Given the description of an element on the screen output the (x, y) to click on. 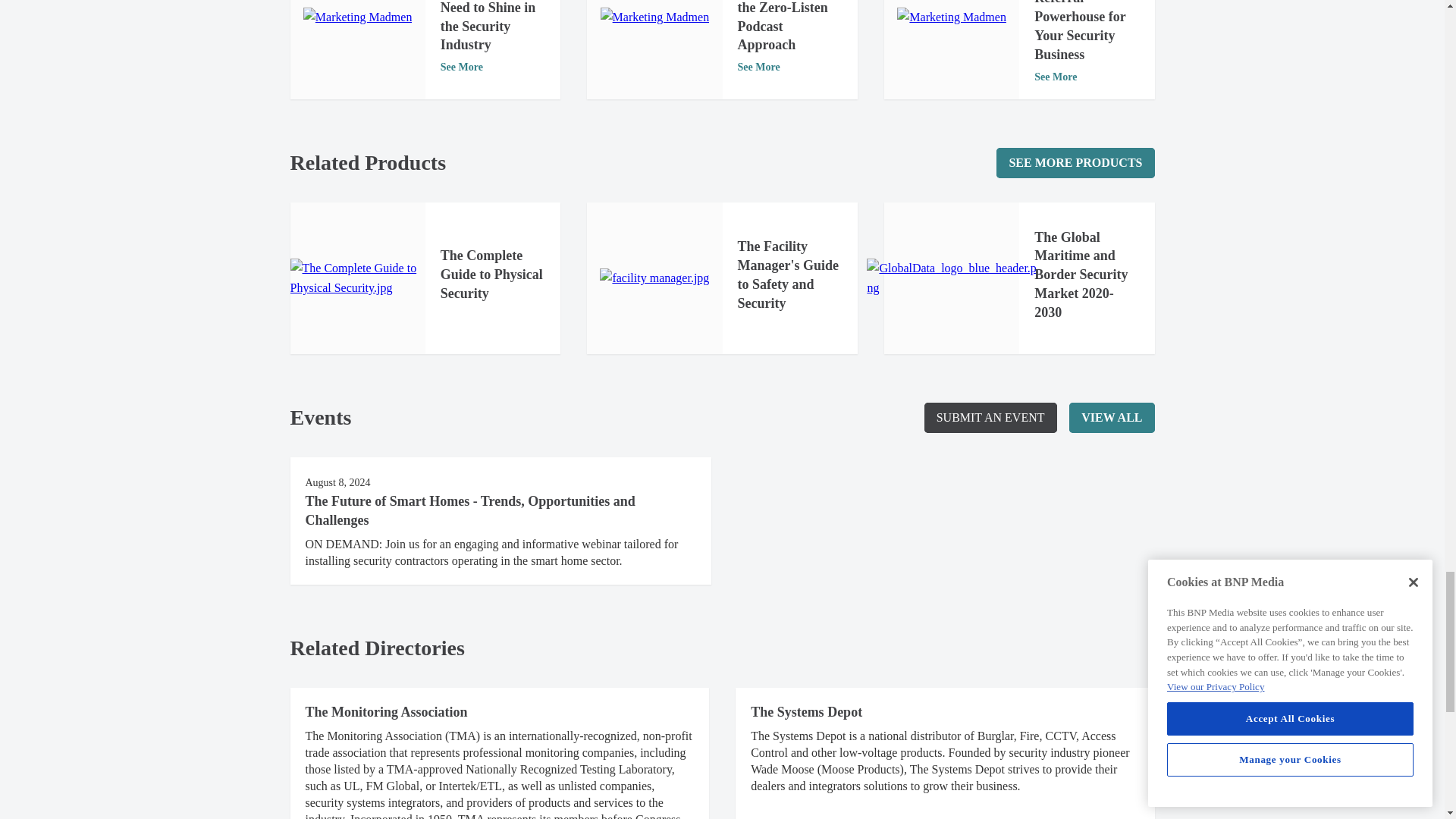
facility manager.jpg (654, 278)
The Complete Guide to Physical Security.jpg (357, 278)
Marketing-Madmen.png (951, 17)
Marketing-Madmen.png (357, 17)
Marketing-Madmen.png (654, 17)
